Given the description of an element on the screen output the (x, y) to click on. 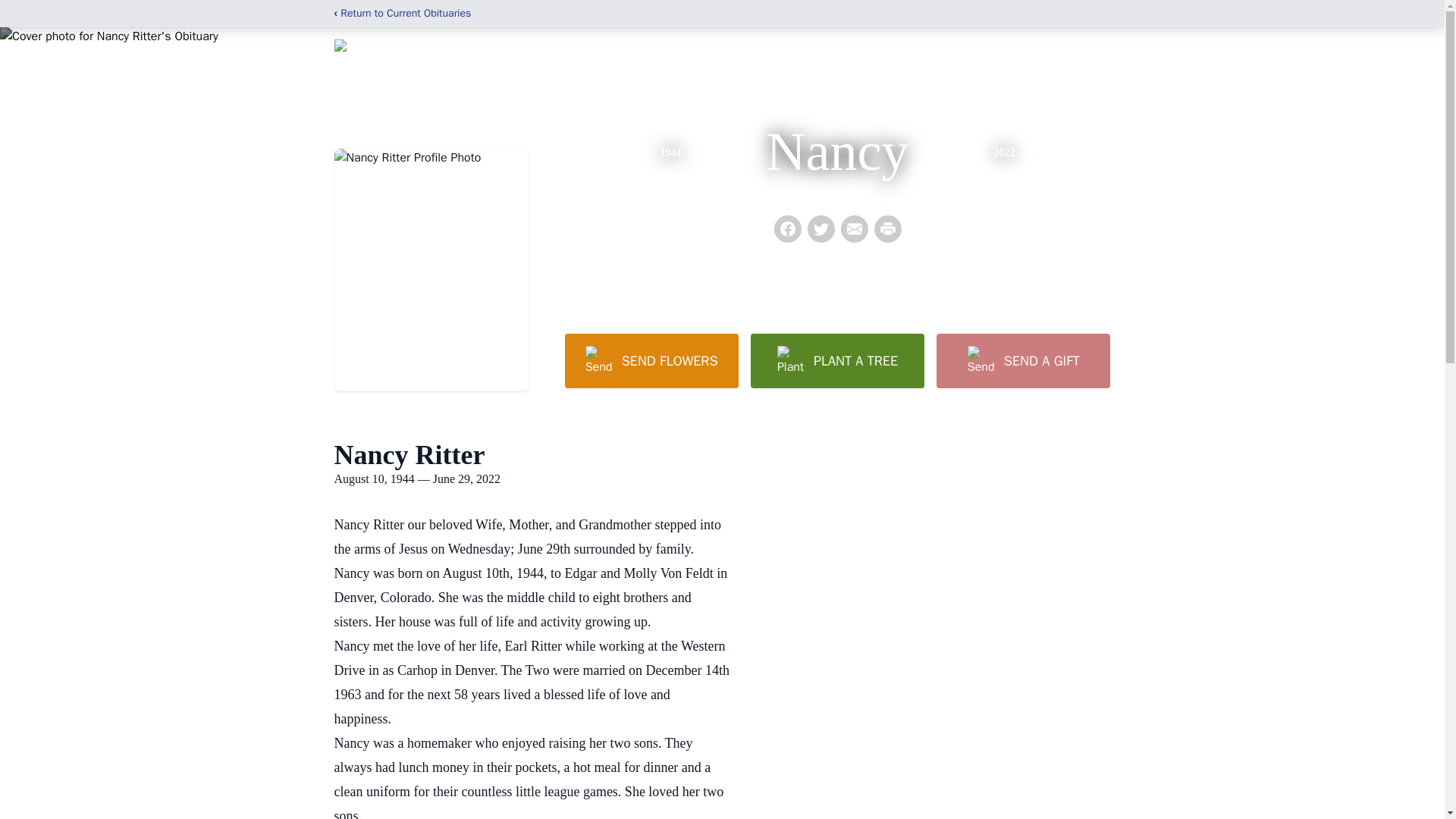
SEND FLOWERS (651, 360)
PLANT A TREE (837, 360)
SEND A GIFT (1022, 360)
